Given the description of an element on the screen output the (x, y) to click on. 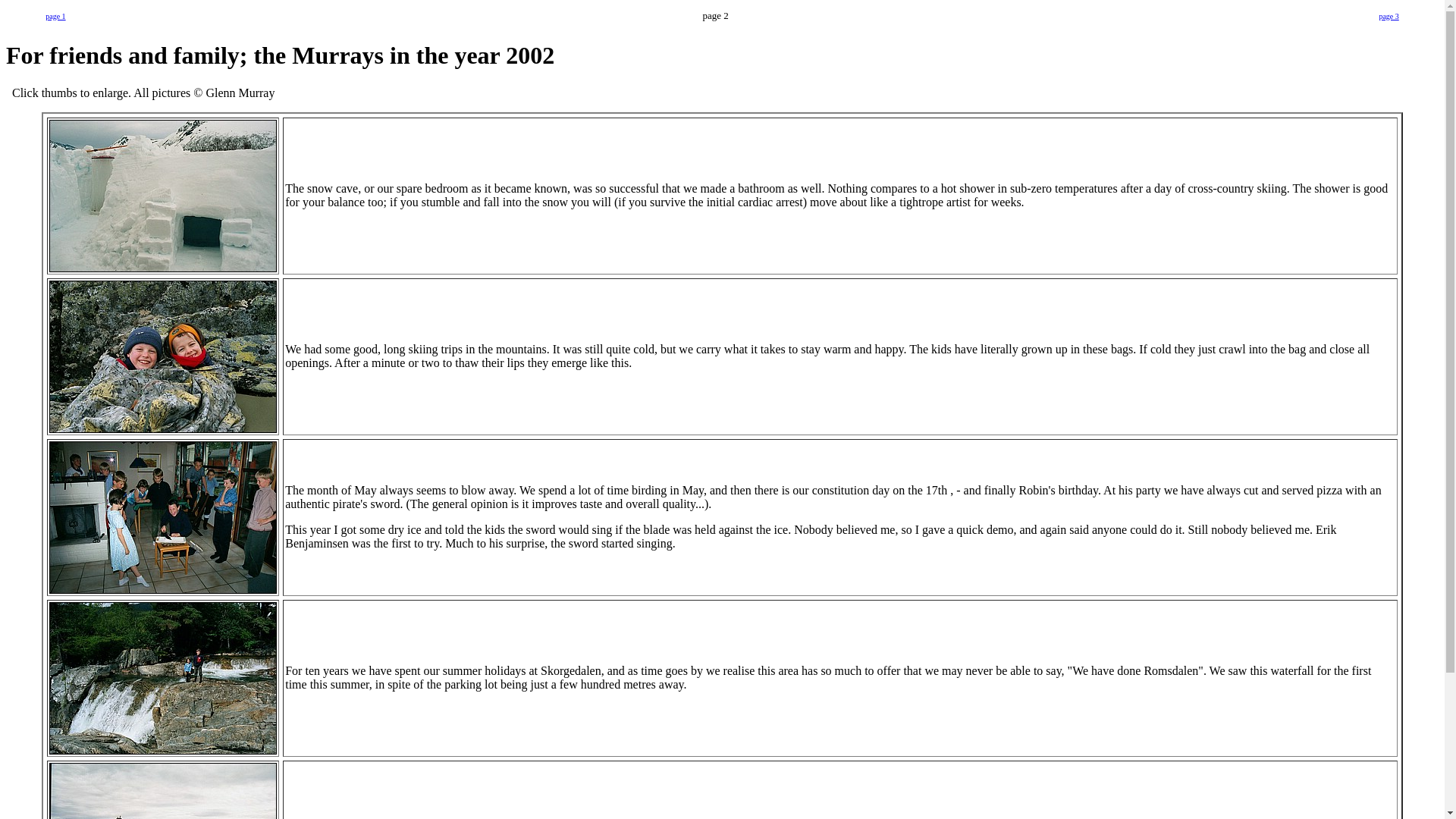
page 3 (1387, 13)
page 1 (55, 13)
